Given the description of an element on the screen output the (x, y) to click on. 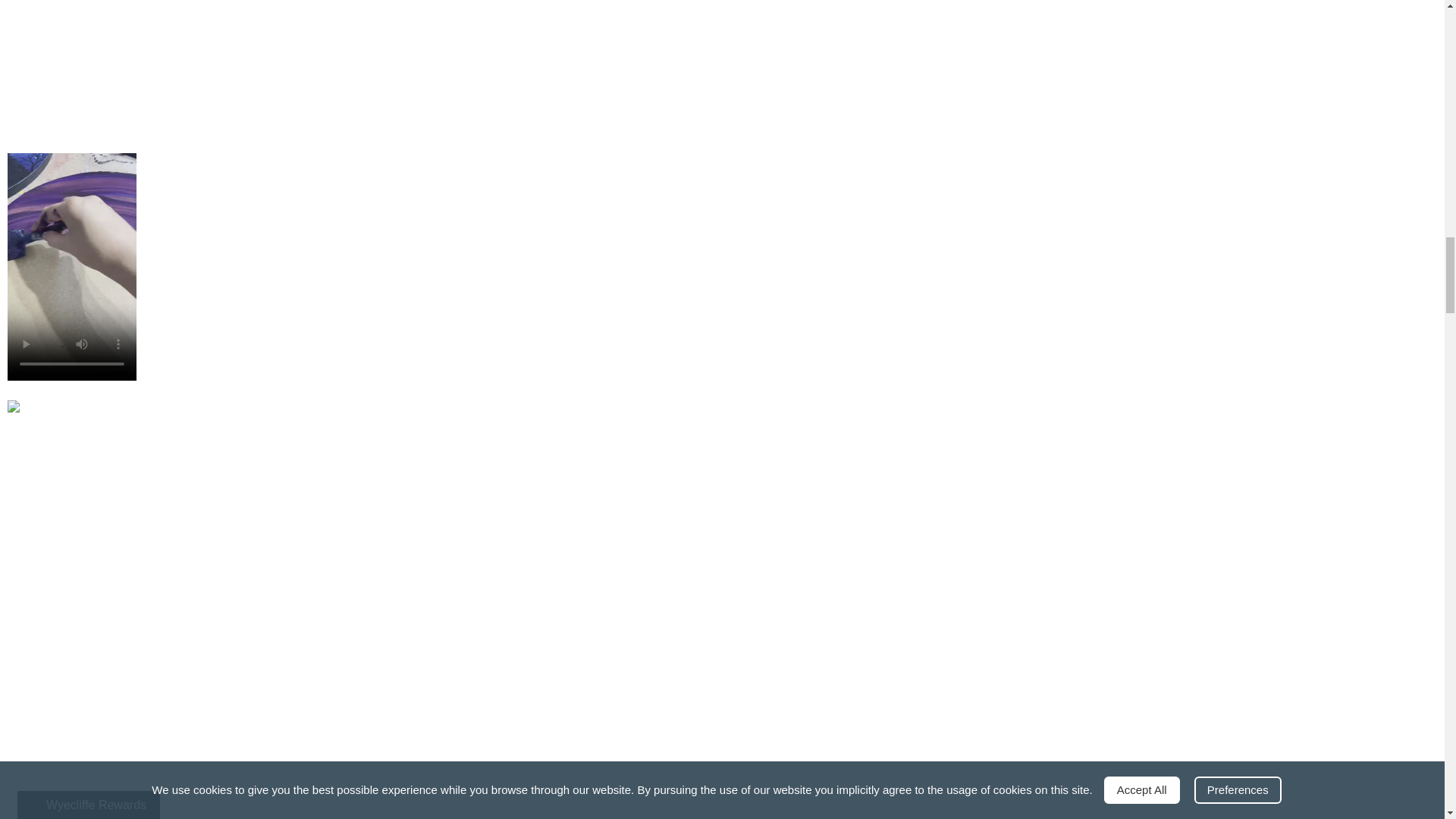
The Night Sky - Original Becky Smith Original (360, 69)
